Given the description of an element on the screen output the (x, y) to click on. 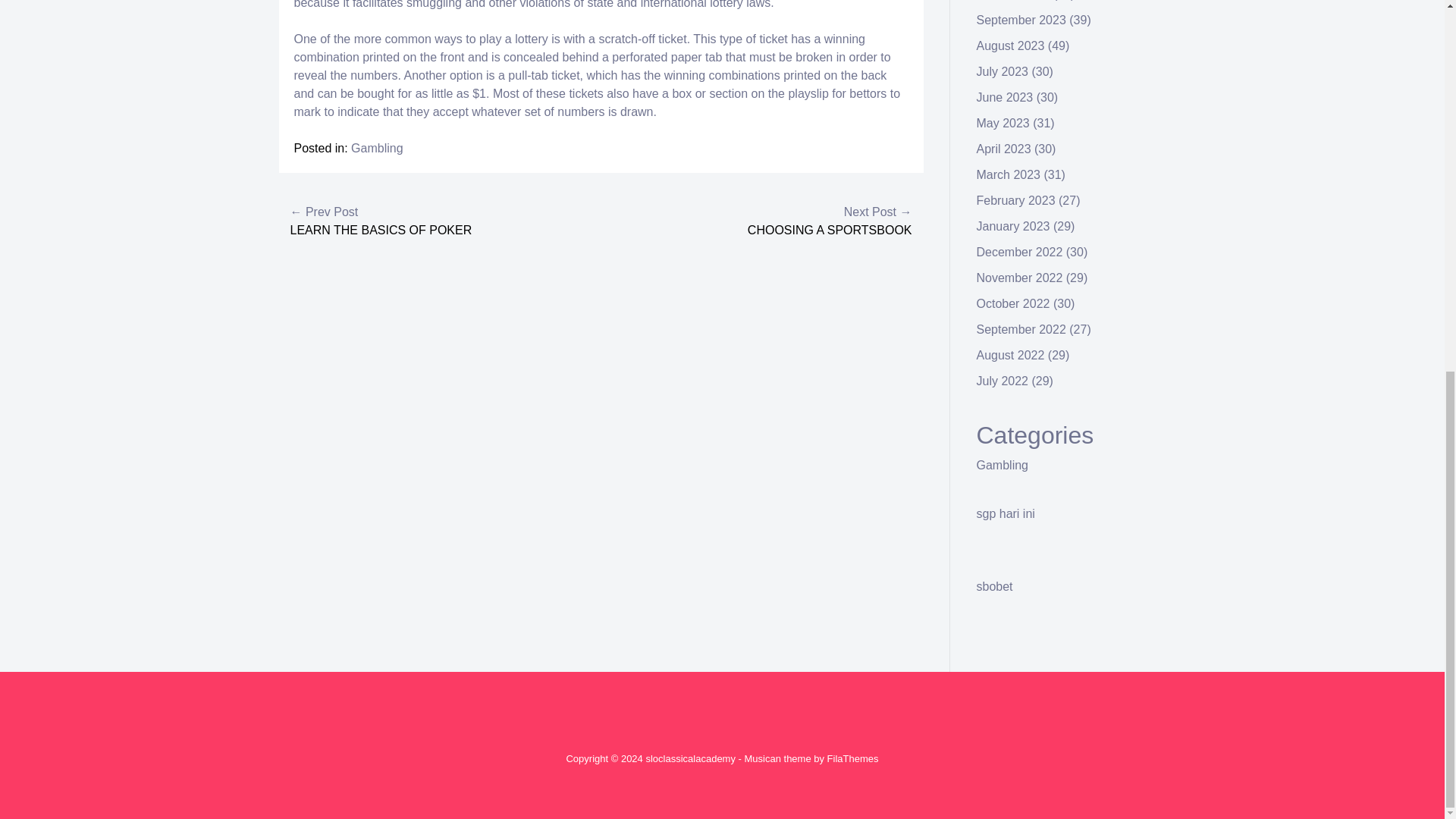
July 2022 (1002, 380)
August 2022 (1010, 354)
December 2022 (1019, 251)
January 2023 (1012, 226)
April 2023 (1003, 148)
October 2022 (1012, 303)
July 2023 (1002, 71)
September 2022 (1020, 328)
August 2023 (1010, 45)
Gambling (1001, 464)
